Given the description of an element on the screen output the (x, y) to click on. 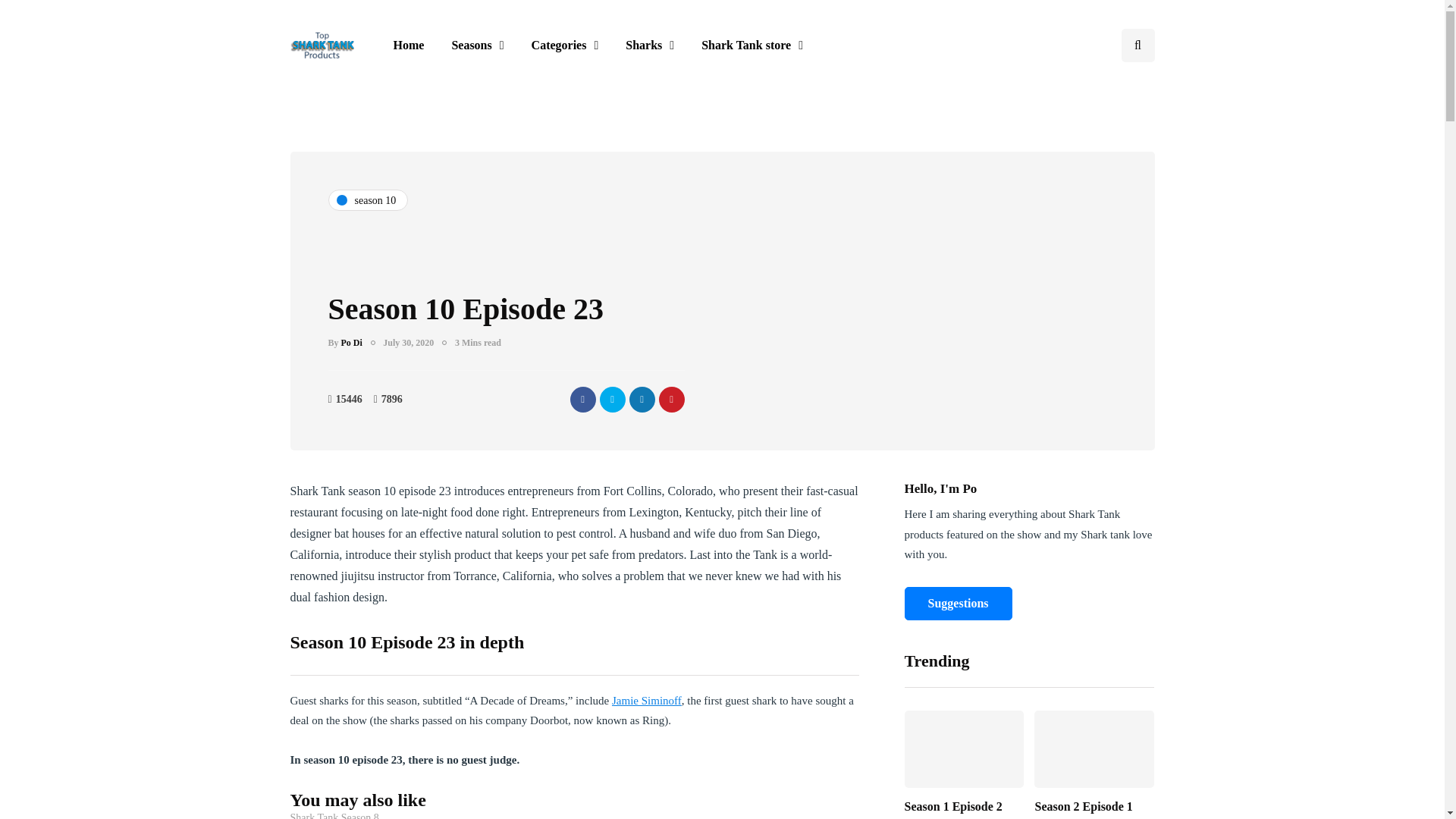
Categories (565, 45)
Share with Facebook (582, 399)
Pin this (671, 399)
Sharks (649, 45)
Home (408, 45)
Seasons (477, 45)
Tweet this (611, 399)
Posts by Po Di (351, 342)
Shark Tank store (751, 45)
Share with LinkedIn (641, 399)
